Given the description of an element on the screen output the (x, y) to click on. 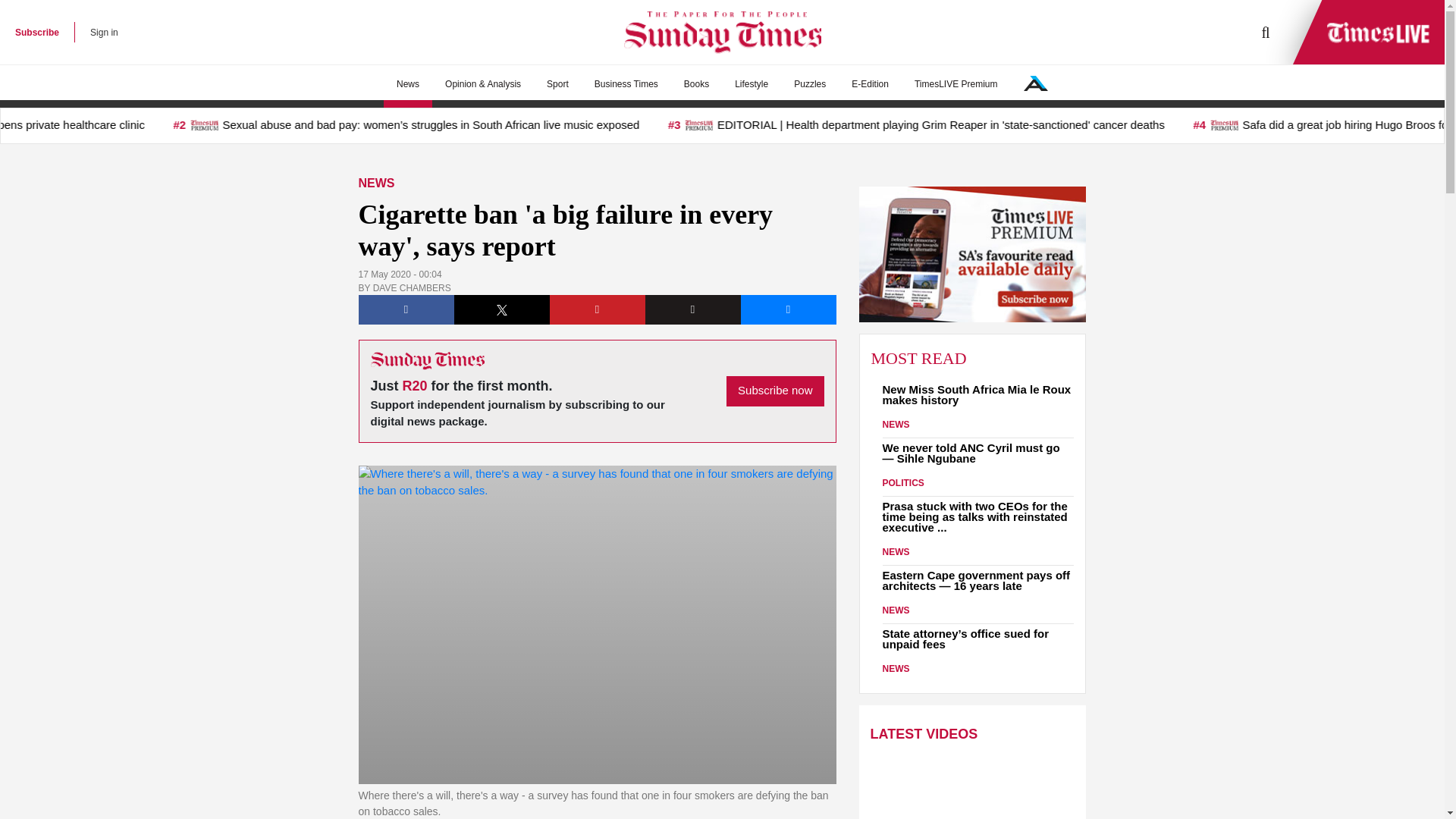
Sign in (103, 32)
Our Network (1035, 83)
E-Edition (869, 84)
Lifestyle (751, 84)
Books (696, 84)
Sport (557, 84)
TimesLIVE Premium (955, 84)
News (408, 84)
Business Times (625, 84)
Puzzles (809, 84)
